Given the description of an element on the screen output the (x, y) to click on. 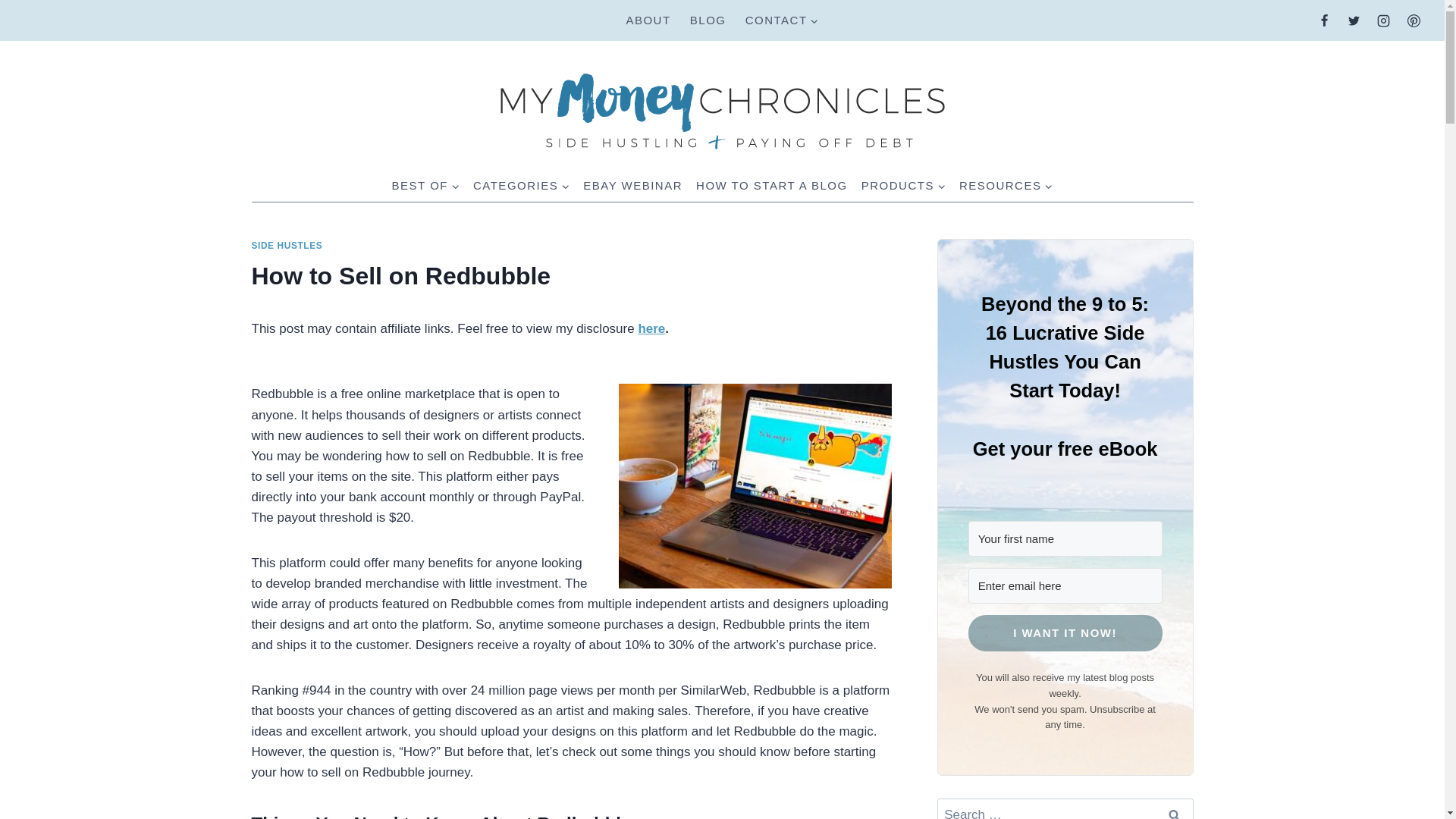
Search (1174, 808)
Search (1174, 808)
PRODUCTS (903, 185)
CATEGORIES (520, 185)
CONTACT (781, 20)
RESOURCES (1005, 185)
EBAY WEBINAR (632, 185)
here (651, 328)
HOW TO START A BLOG (771, 185)
SIDE HUSTLES (287, 245)
BLOG (707, 20)
ABOUT (647, 20)
BEST OF (425, 185)
